Given the description of an element on the screen output the (x, y) to click on. 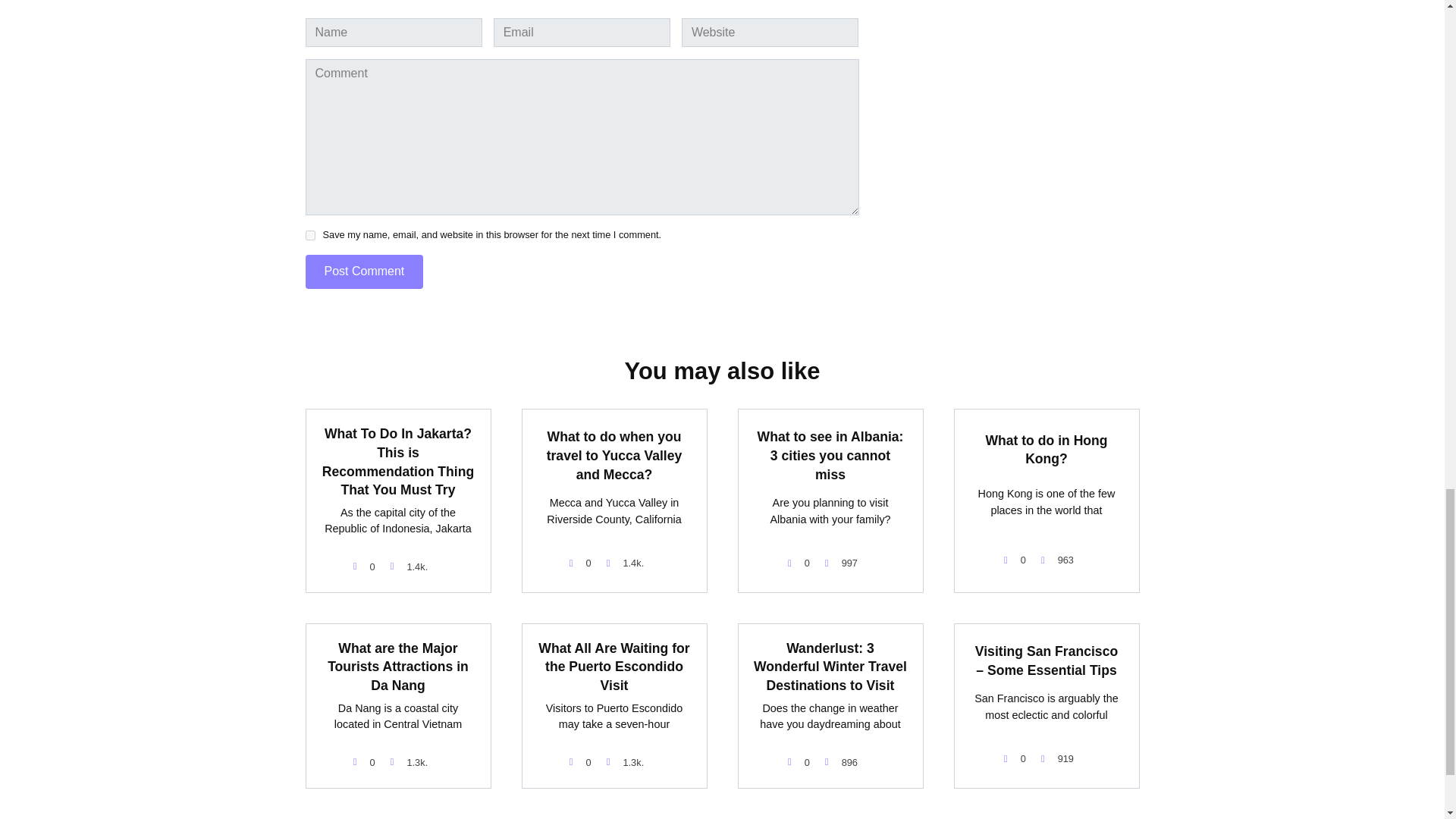
What All Are Waiting for the Puerto Escondido Visit (613, 666)
What to do in Hong Kong? (1045, 448)
What to see in Albania: 3 cities you cannot miss (830, 455)
yes (309, 235)
What are the Major Tourists Attractions in Da Nang (397, 666)
Wanderlust: 3 Wonderful Winter Travel Destinations to Visit (830, 666)
Post Comment (363, 271)
Post Comment (363, 271)
What to do when you travel to Yucca Valley and Mecca? (614, 455)
